Given the description of an element on the screen output the (x, y) to click on. 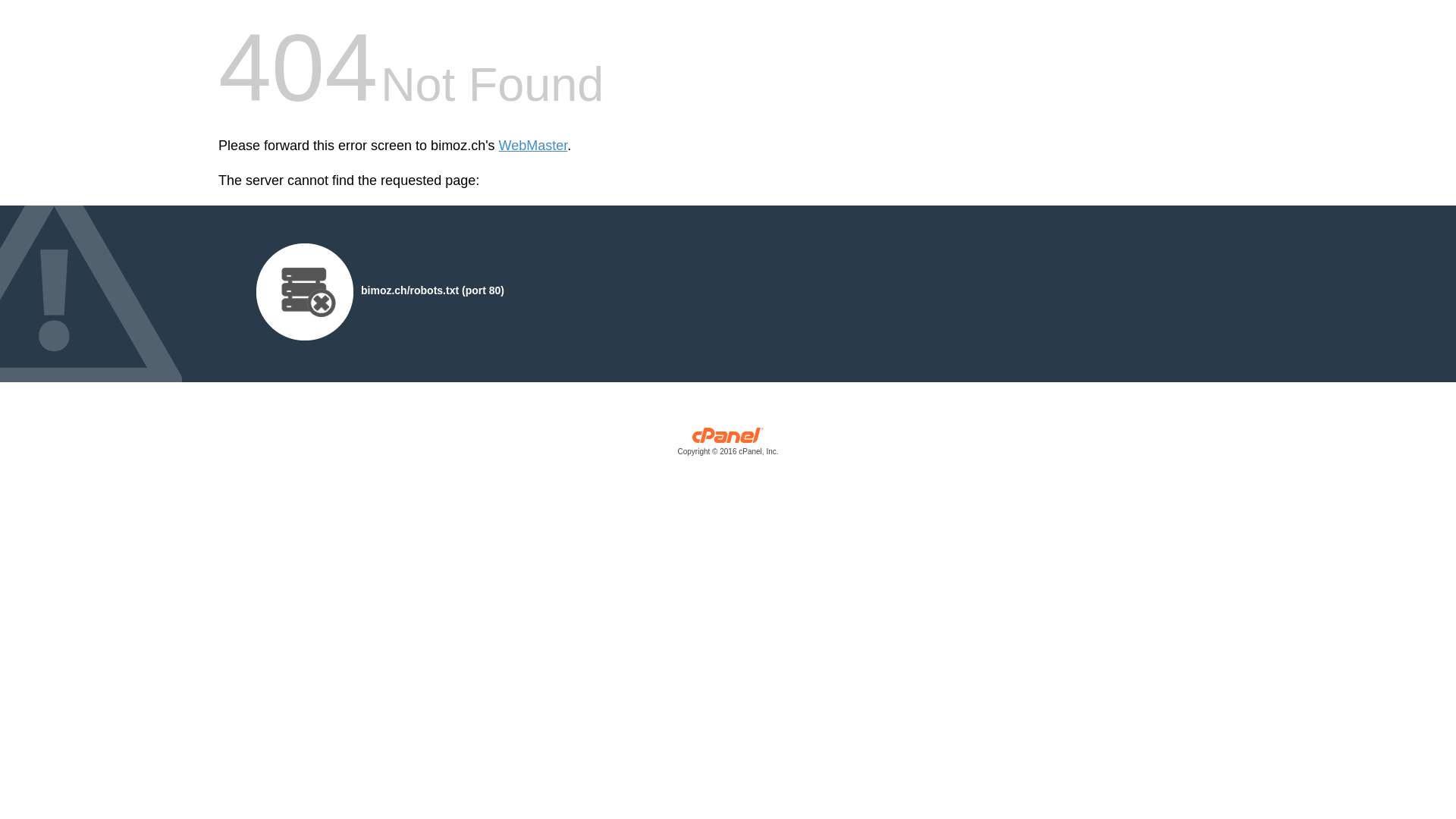
WebMaster Element type: text (532, 145)
